Given the description of an element on the screen output the (x, y) to click on. 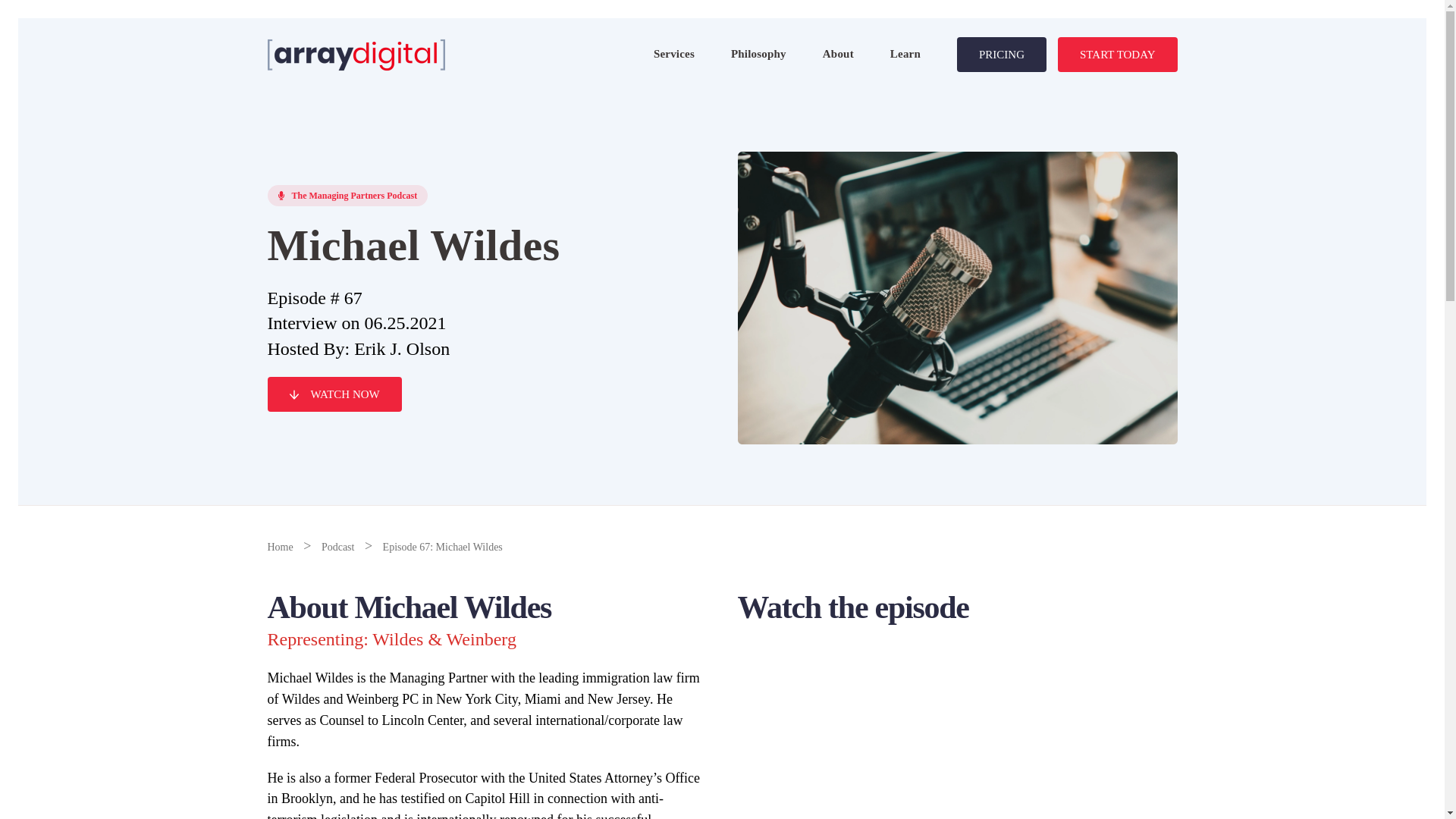
Podcast (338, 546)
WATCH NOW (333, 393)
START TODAY (1117, 54)
PRICING (1001, 54)
Podcast (338, 546)
Home (279, 546)
Philosophy (758, 54)
Home (279, 546)
